Given the description of an element on the screen output the (x, y) to click on. 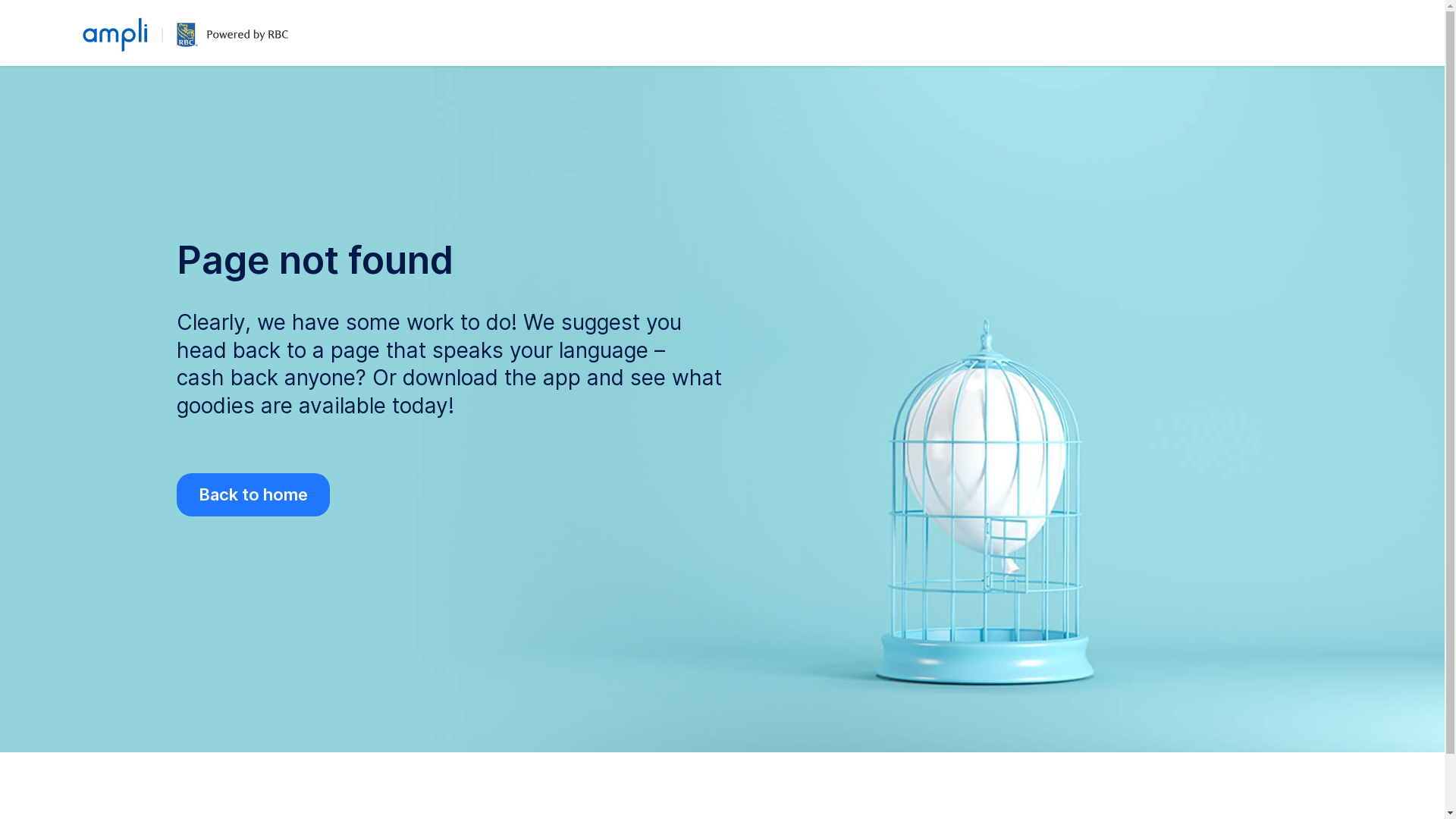
Back to home Element type: text (252, 494)
